Given the description of an element on the screen output the (x, y) to click on. 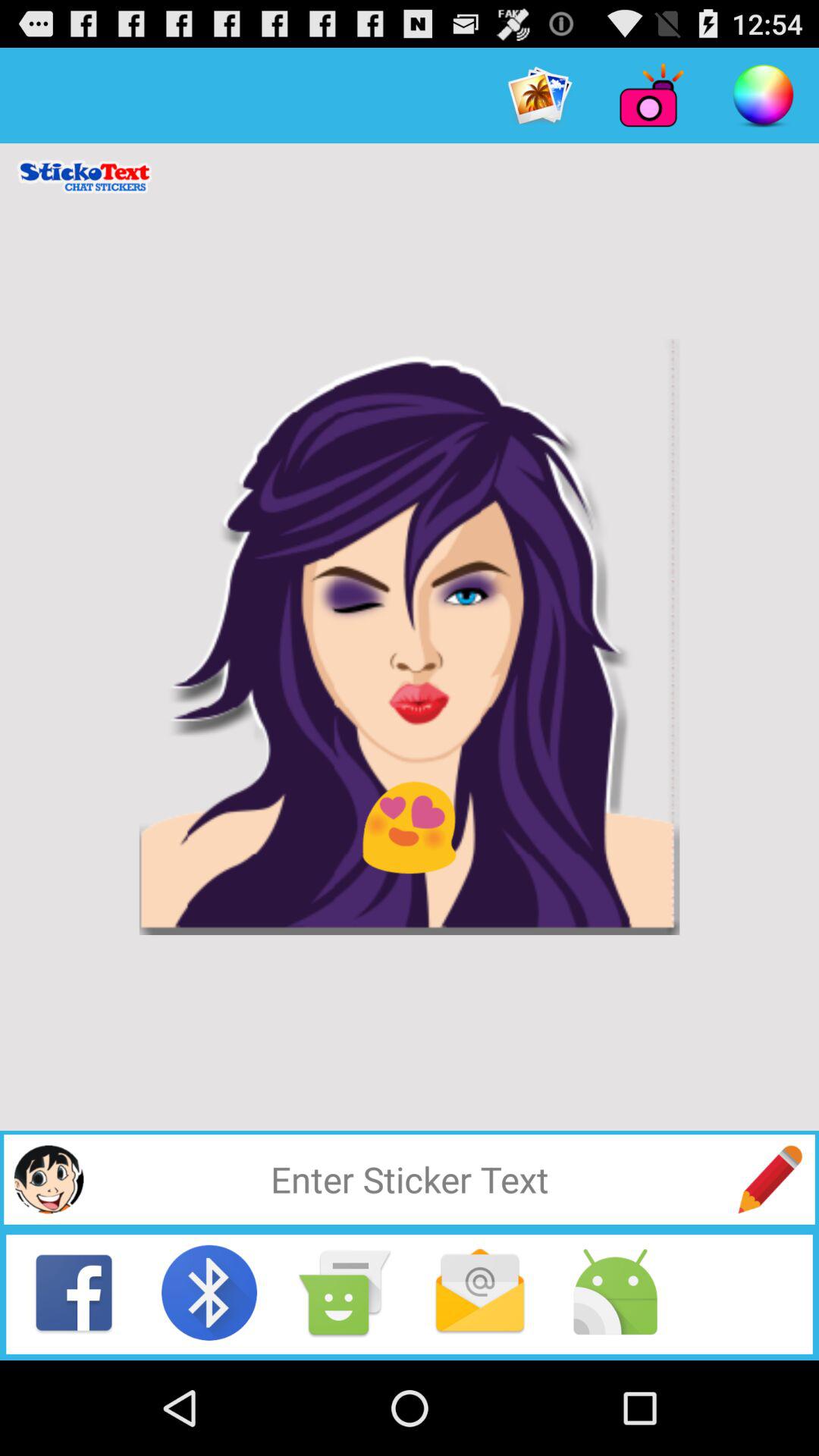
used to find a favorite sticker (770, 1179)
